Given the description of an element on the screen output the (x, y) to click on. 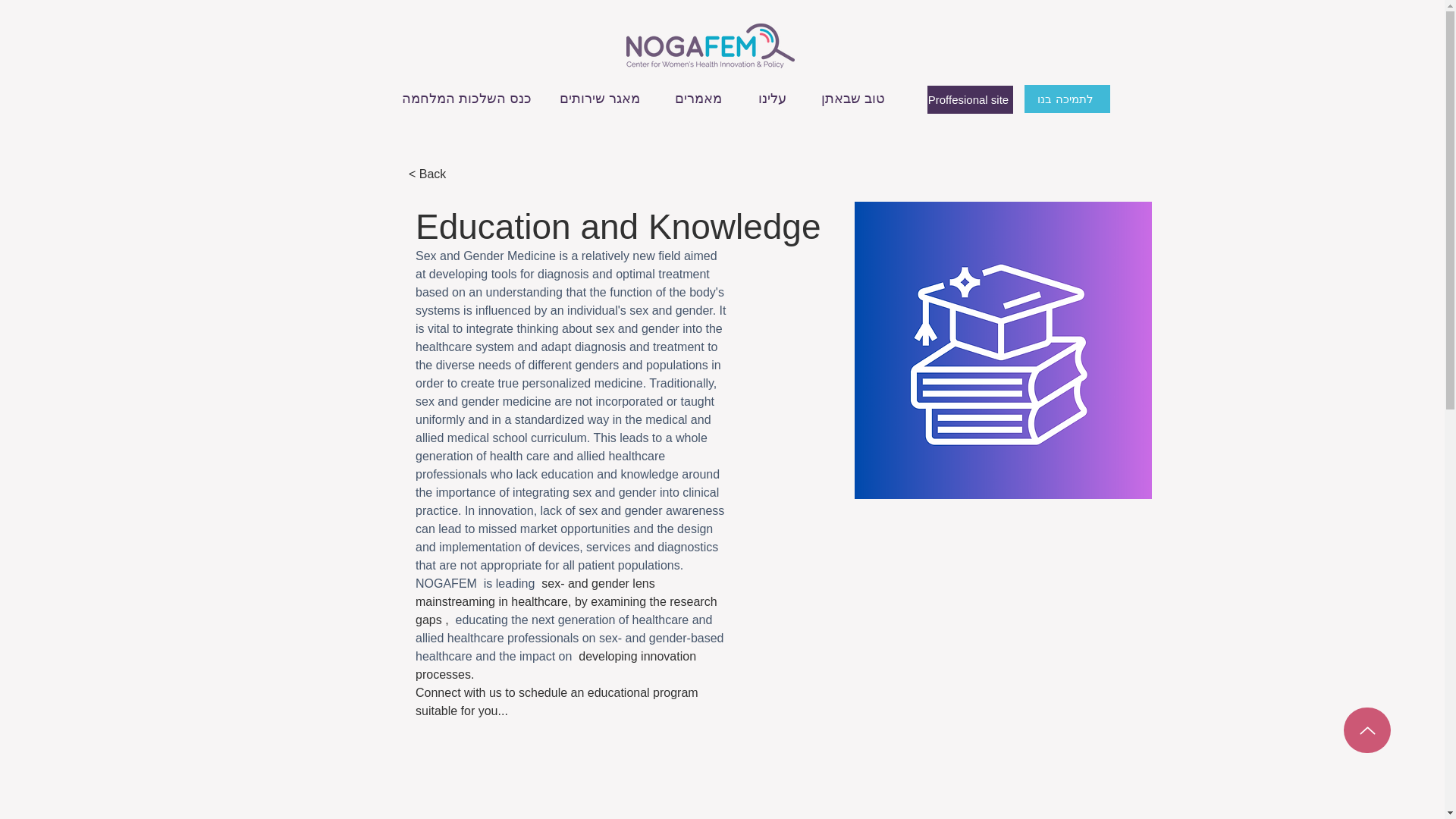
Picture1.png (1002, 349)
Proffesional site (968, 99)
